Given the description of an element on the screen output the (x, y) to click on. 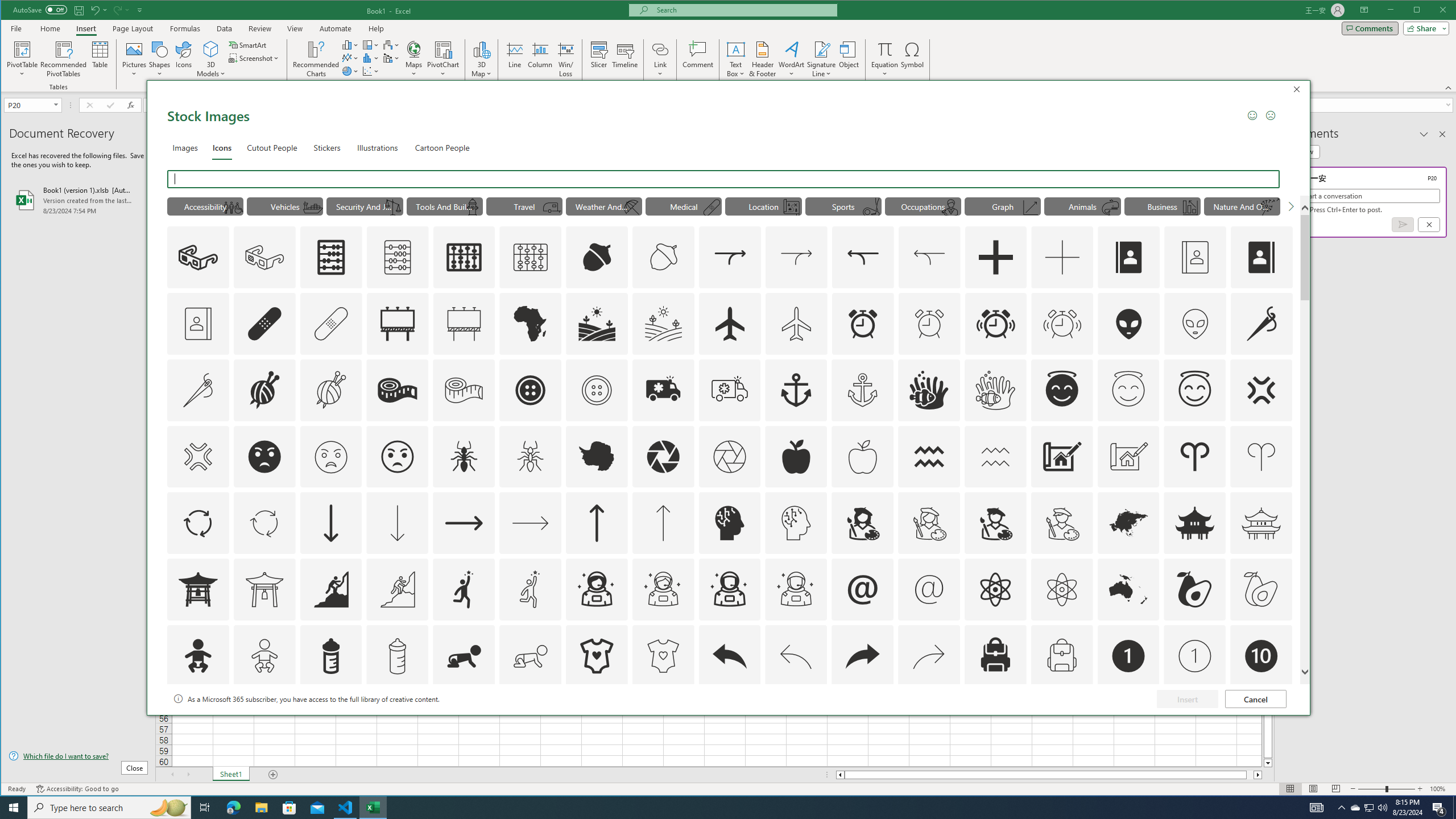
Next Search Suggestion (1290, 206)
AutomationID: Icons_Add (995, 256)
Insert Hierarchy Chart (371, 44)
AutomationID: Icons_Africa (530, 323)
AutomationID: Icons_AddressBook_RTL (1261, 256)
AutomationID: Icons_AngerSymbol_M (197, 456)
AutomationID: Icons_Badge3_M (464, 721)
AutomationID: Icons_Acorn (596, 256)
AutomationID: Icons_AngelFace_M (1128, 389)
